Given the description of an element on the screen output the (x, y) to click on. 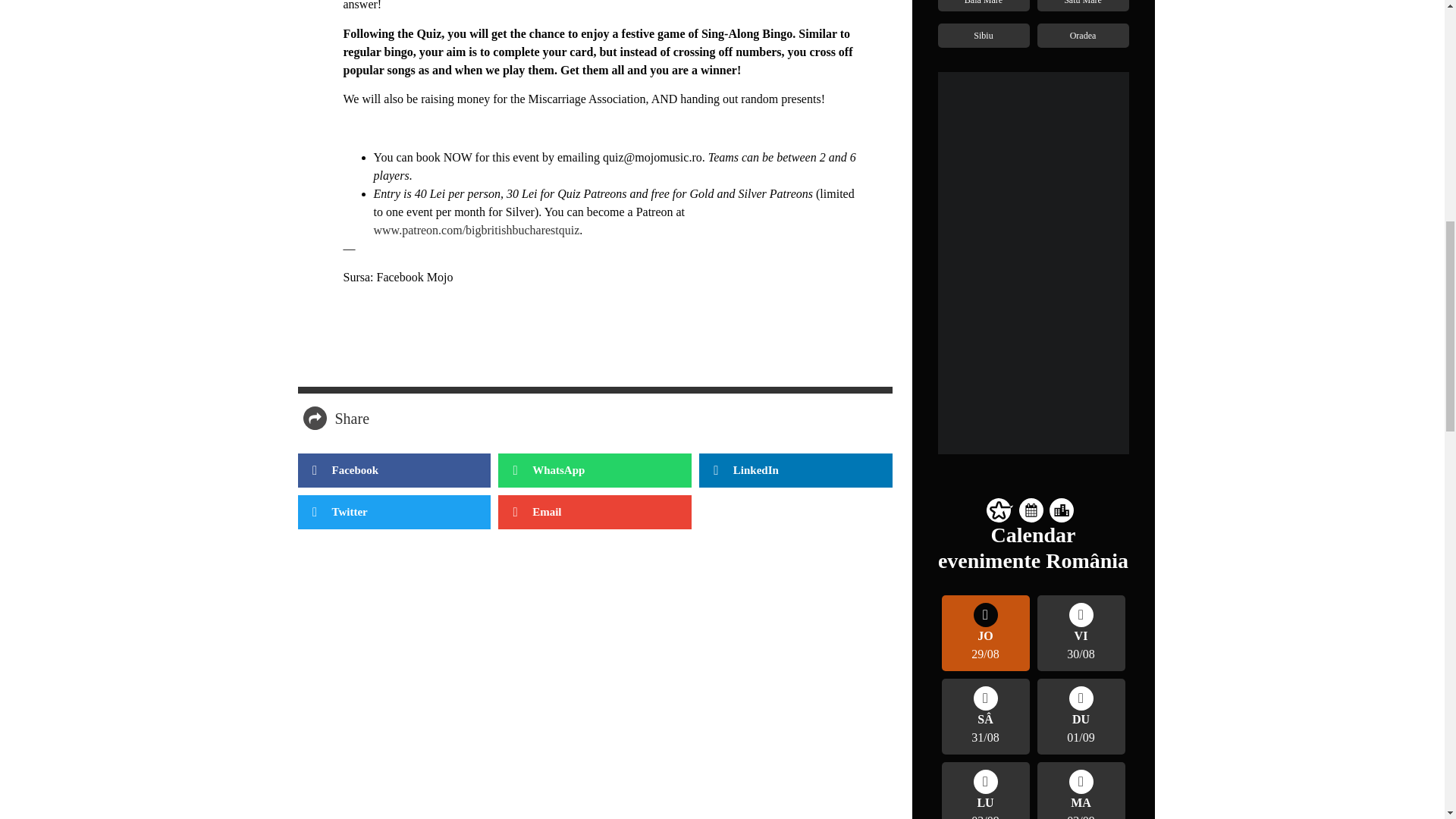
Oradea (1083, 34)
Baia Mare (983, 2)
Satu Mare (1083, 2)
Sibiu (983, 34)
